Given the description of an element on the screen output the (x, y) to click on. 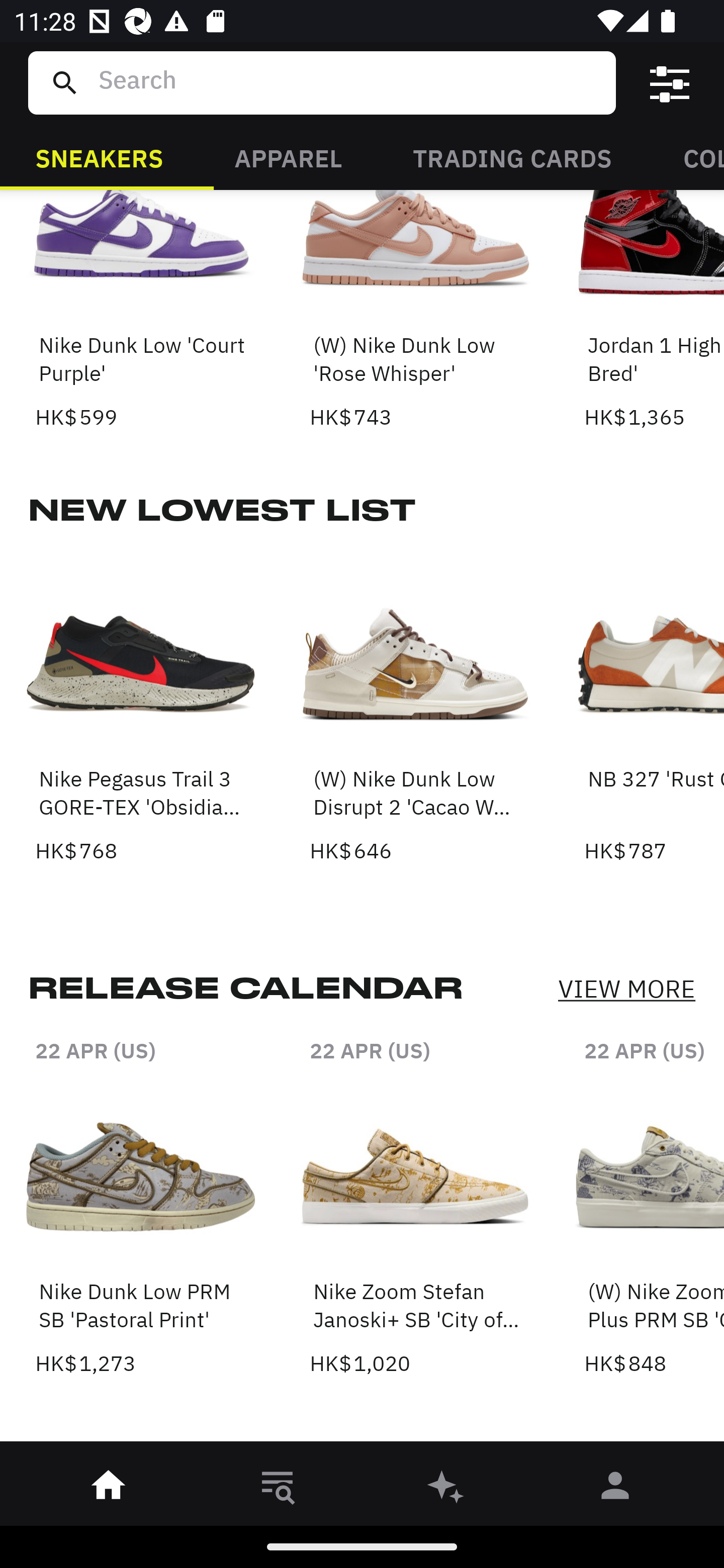
Search (349, 82)
 (669, 82)
SNEAKERS (99, 156)
APPAREL (287, 156)
TRADING CARDS (512, 156)
Nike Dunk Low 'Court Purple' HK$ 599 (140, 311)
(W) Nike Dunk Low 'Rose Whisper' HK$ 743 (414, 311)
Jordan 1 High 'Patent Bred' HK$ 1,365 (654, 311)
NB 327 'Rust Oxide' HK$ 787 (654, 708)
VIEW MORE (626, 989)
󰋜 (108, 1488)
󱎸 (277, 1488)
󰫢 (446, 1488)
󰀄 (615, 1488)
